Given the description of an element on the screen output the (x, y) to click on. 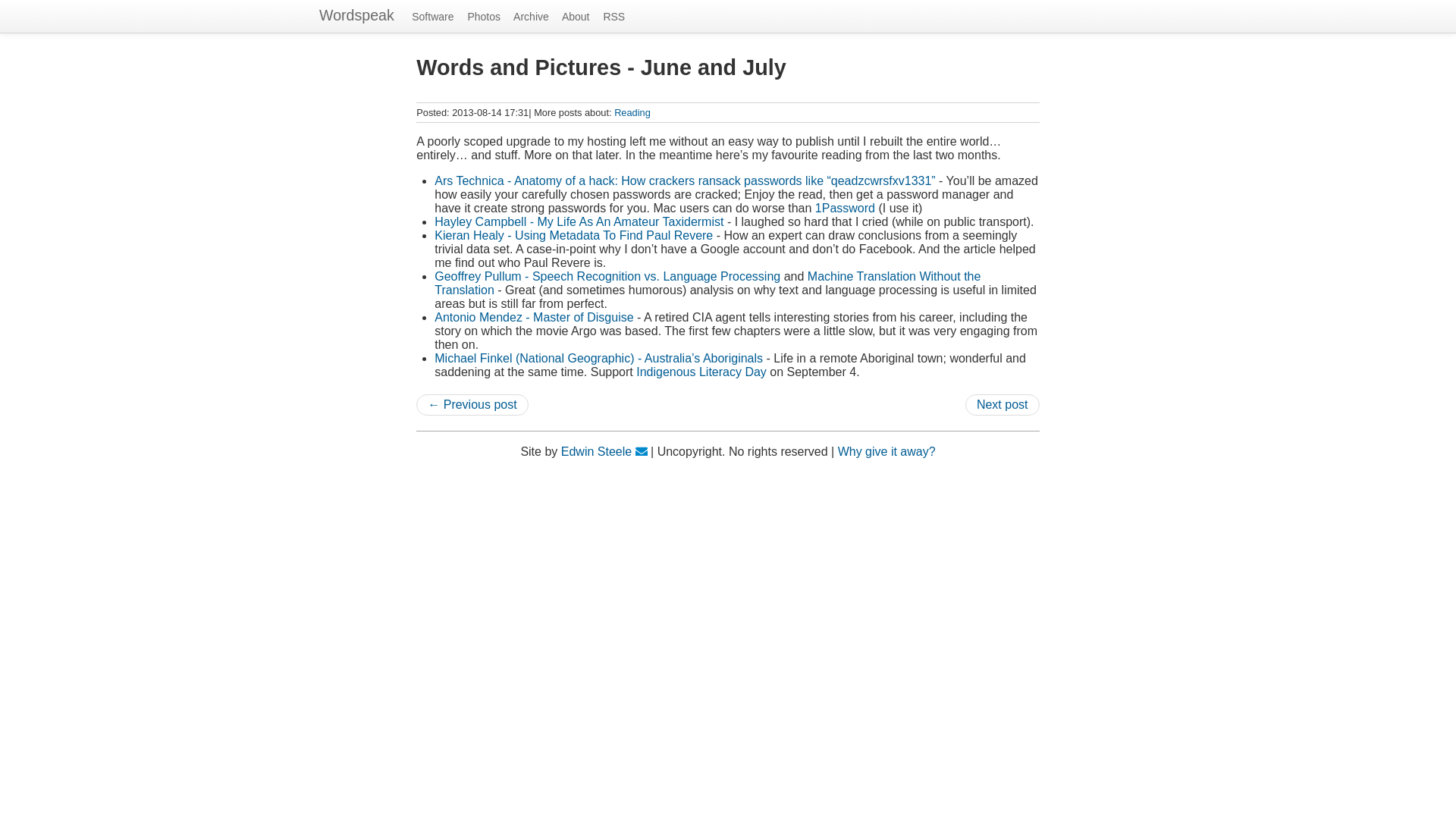
Next post (1002, 404)
About the author (595, 451)
Kieran Healy - Using Metadata To Find Paul Revere (573, 235)
Email (640, 451)
Reading (632, 112)
Indigenous Literacy Day (701, 371)
Hayley Campbell - My Life As An Amateur Taxidermist (578, 221)
Site Licencing (887, 451)
About (580, 16)
Words and Pictures - May (471, 404)
Why give it away? (887, 451)
Software (438, 16)
Antonio Mendez - Master of Disguise (533, 317)
Photos (489, 16)
Edwin Steele (595, 451)
